Given the description of an element on the screen output the (x, y) to click on. 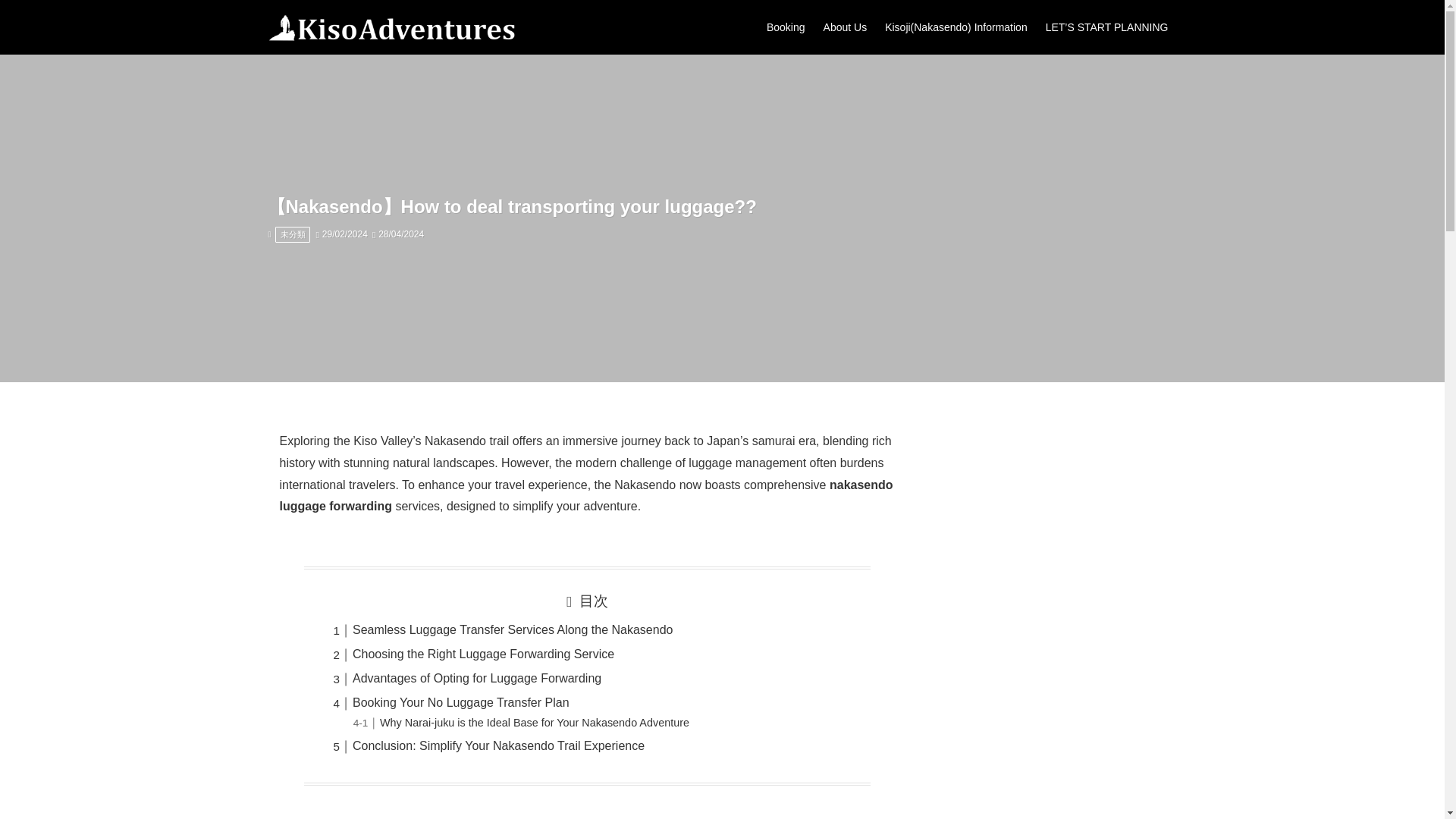
Booking (785, 27)
About Us (844, 27)
search (922, 421)
Seamless Luggage Transfer Services Along the Nakasendo (512, 629)
Conclusion: Simplify Your Nakasendo Trail Experience (498, 745)
KisoAdventures.com (391, 27)
Booking Your No Luggage Transfer Plan (460, 702)
Choosing the Right Luggage Forwarding Service (483, 653)
Advantages of Opting for Luggage Forwarding (476, 677)
